Given the description of an element on the screen output the (x, y) to click on. 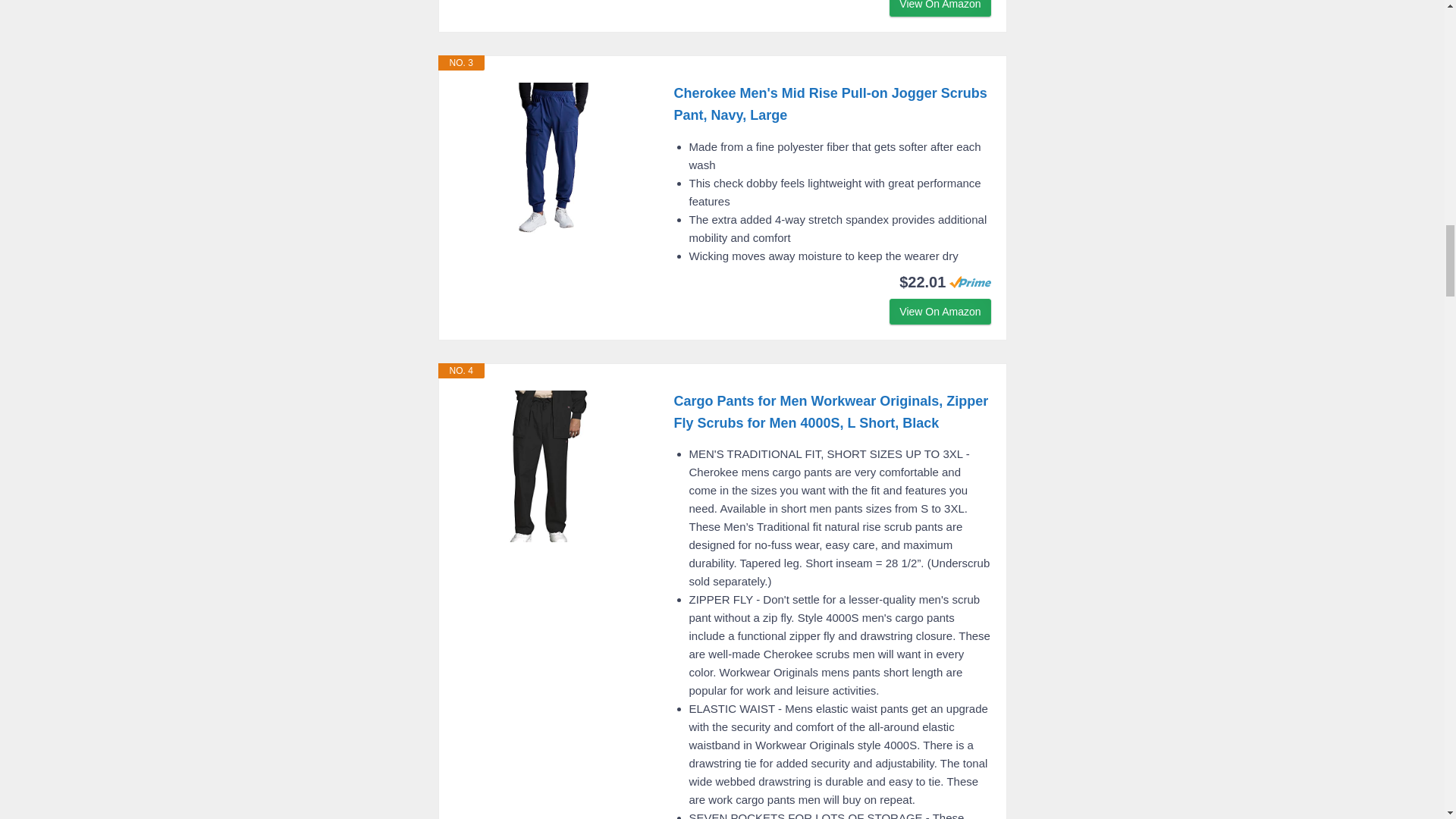
View On Amazon (939, 8)
View On Amazon (939, 311)
